Given the description of an element on the screen output the (x, y) to click on. 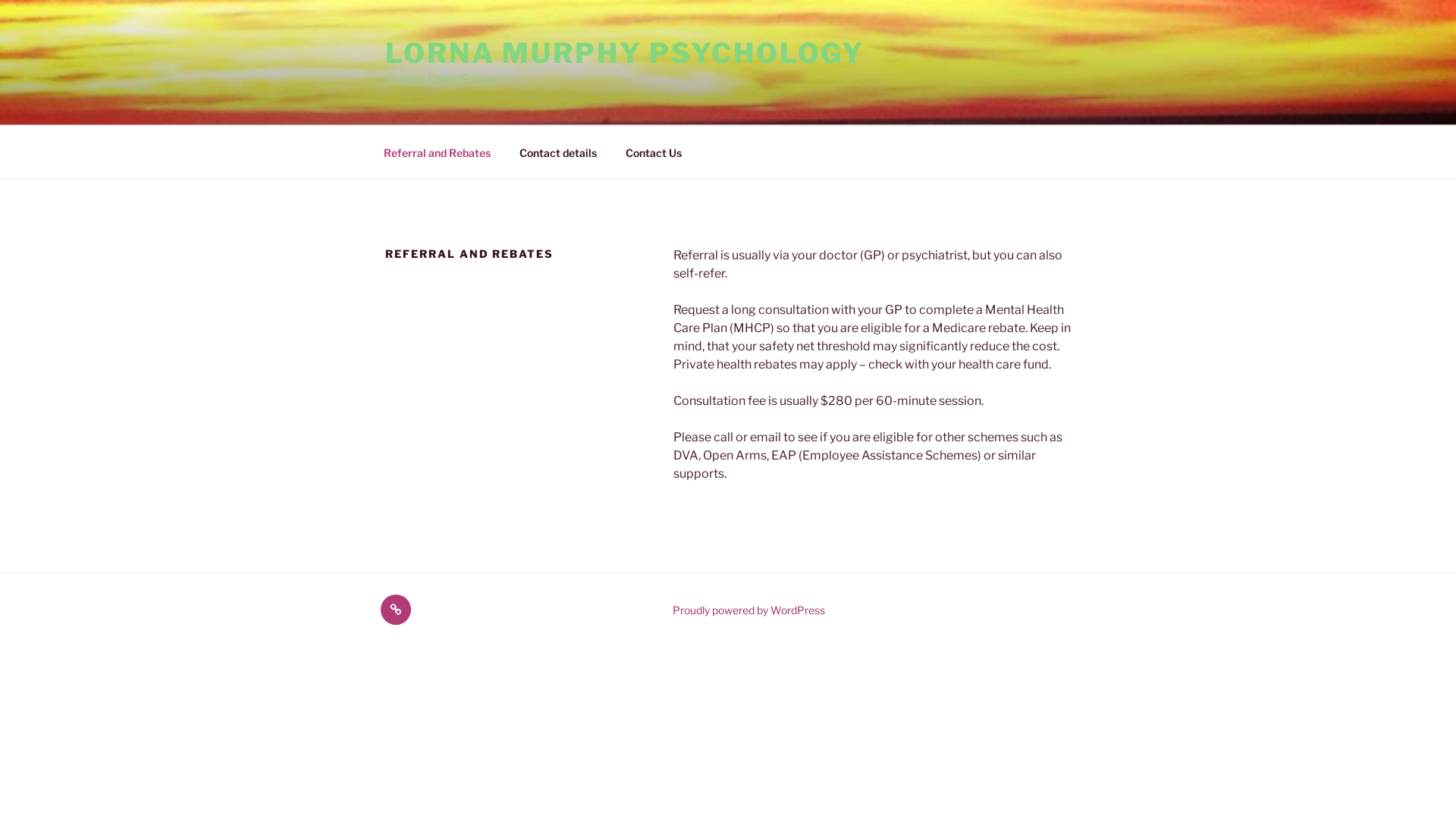
Contact Us Element type: text (652, 151)
Contact details Element type: text (557, 151)
Proudly powered by WordPress Element type: text (748, 609)
LORNA MURPHY PSYCHOLOGY Element type: text (624, 52)
Contact Us Element type: text (395, 609)
Referral and Rebates Element type: text (436, 151)
